Given the description of an element on the screen output the (x, y) to click on. 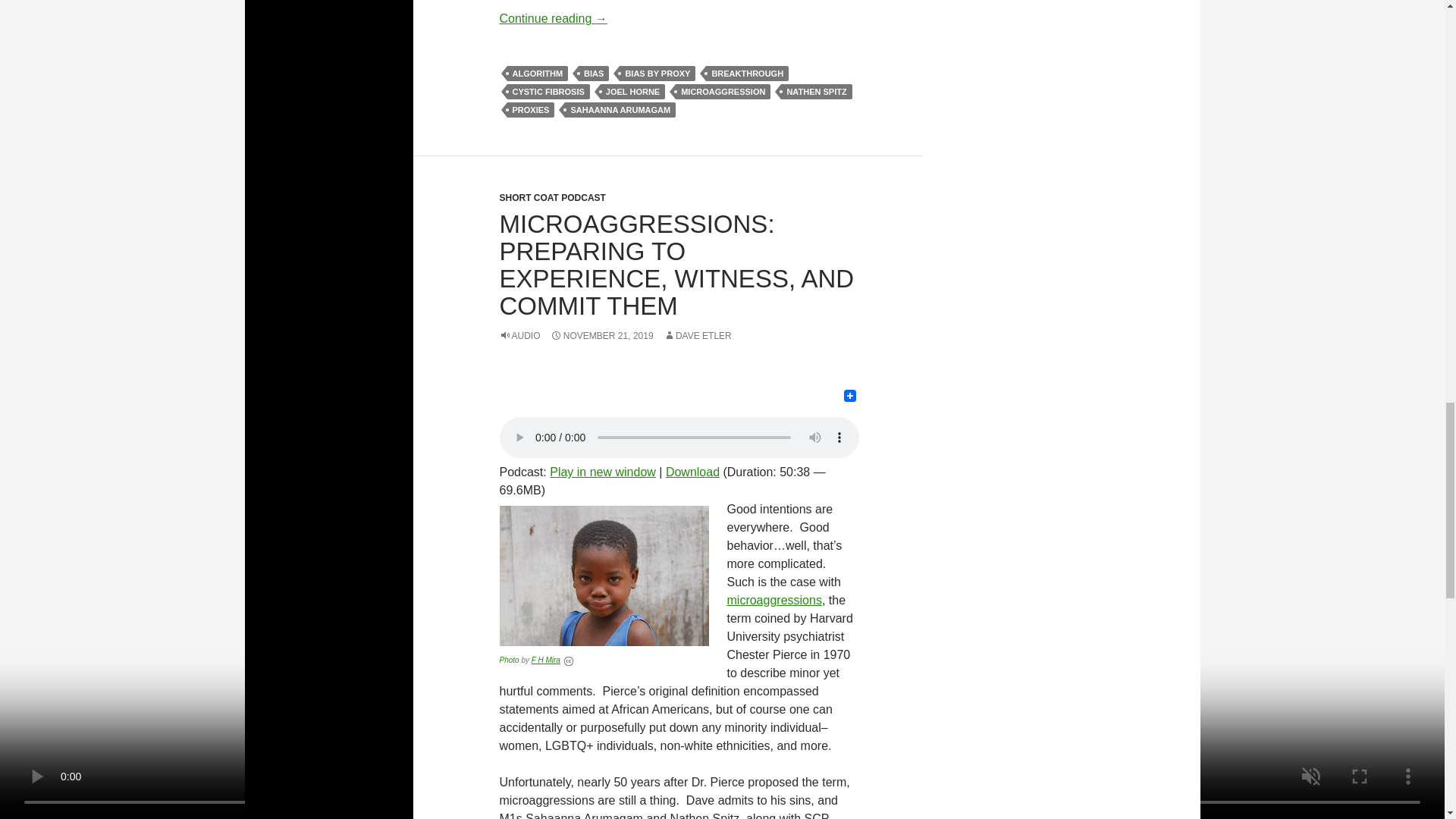
Play in new window (603, 472)
ALGORITHM (536, 73)
BIAS (593, 73)
